Given the description of an element on the screen output the (x, y) to click on. 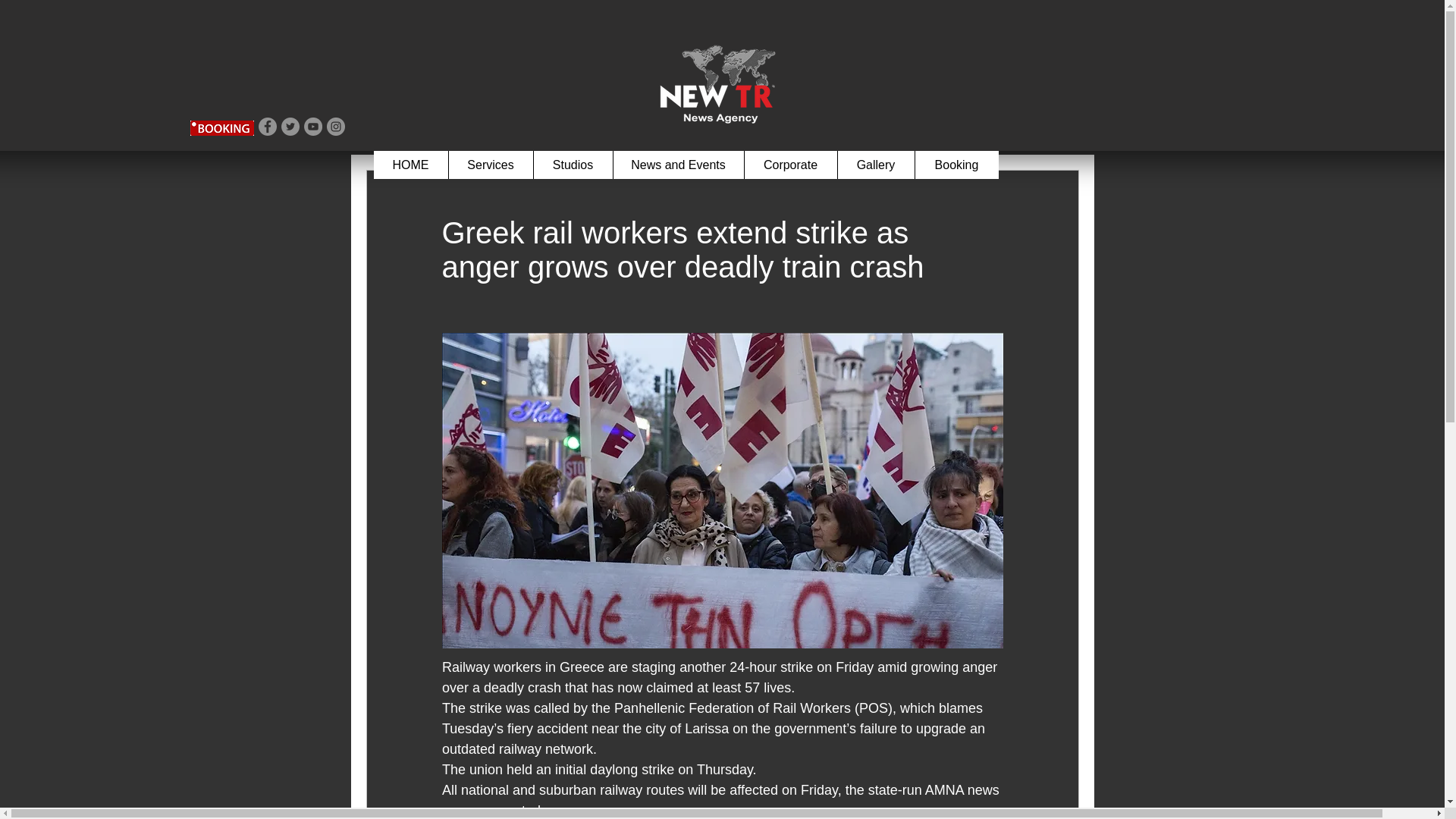
Log In (1043, 9)
Studios (571, 164)
Services (489, 164)
HOME (409, 164)
